Given the description of an element on the screen output the (x, y) to click on. 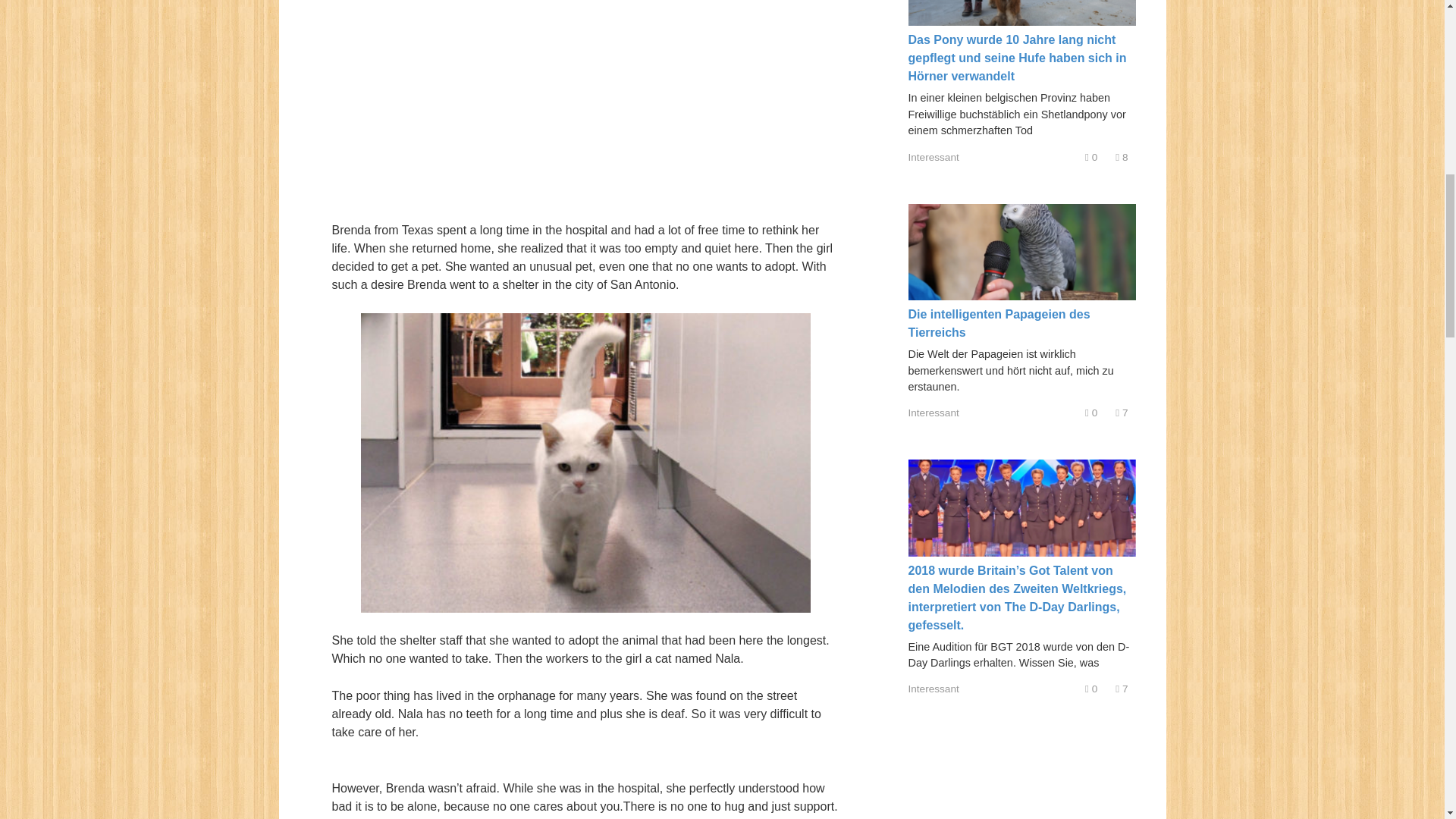
Advertisement (585, 101)
Interessant (933, 156)
Die intelligenten Papageien des Tierreichs (999, 323)
Interessant (933, 412)
Interessant (933, 688)
